Given the description of an element on the screen output the (x, y) to click on. 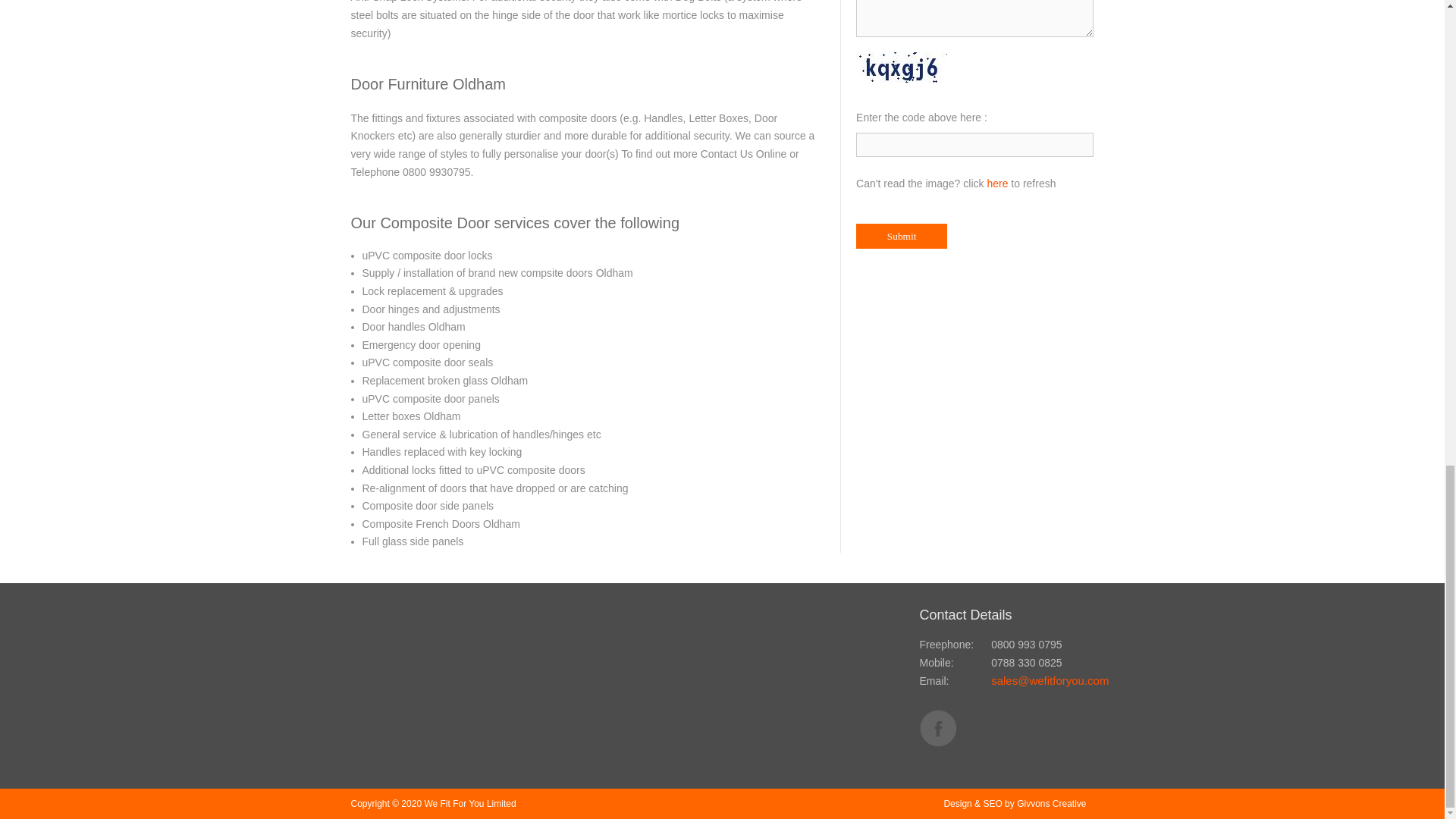
Submit (901, 235)
here (997, 183)
Submit (901, 235)
